Given the description of an element on the screen output the (x, y) to click on. 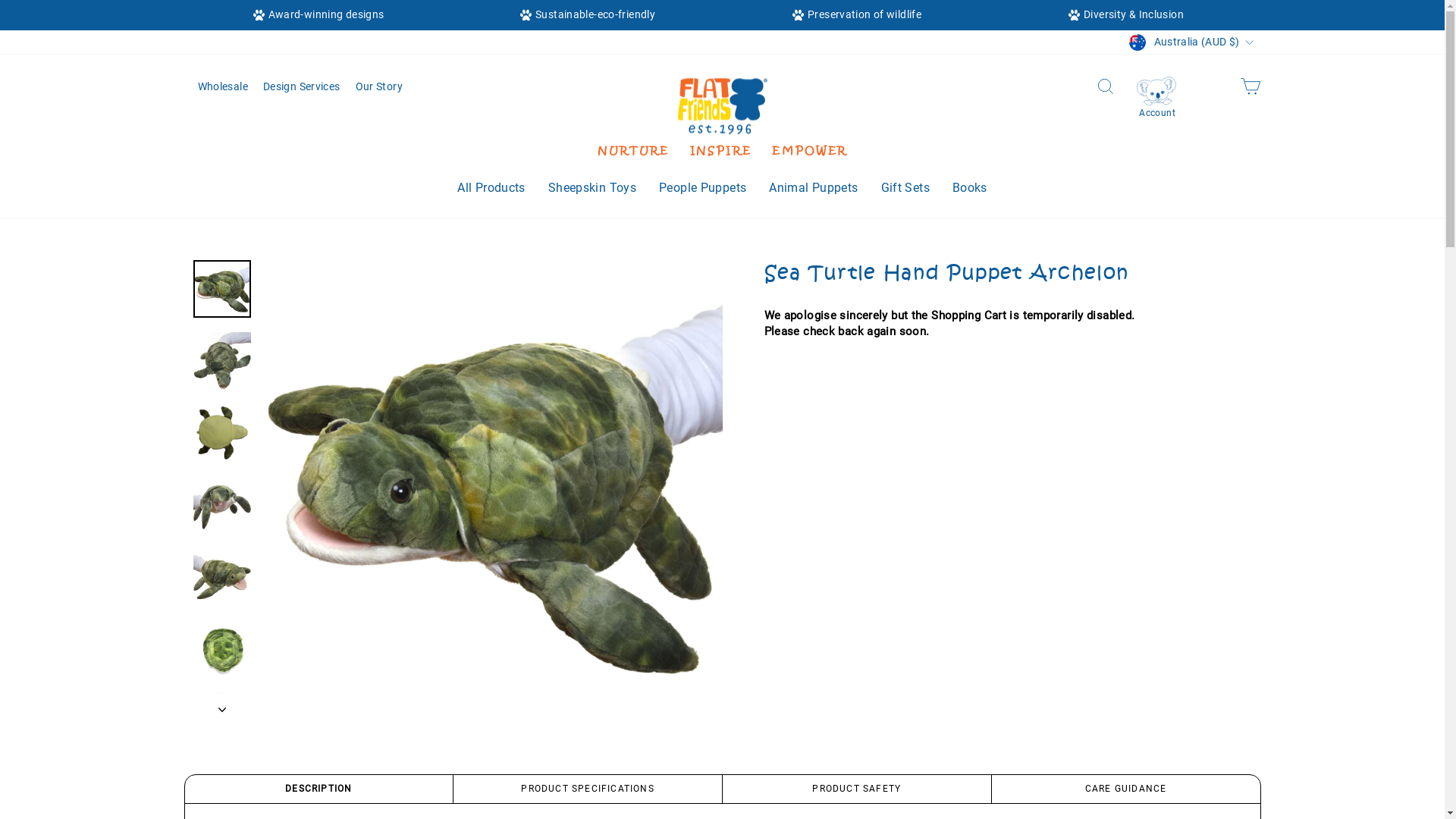
Skip to content Element type: text (0, 0)
Design Services Element type: text (301, 86)
Animal Puppets Element type: text (813, 187)
Search Element type: text (1105, 85)
Our Story Element type: text (378, 86)
Australia (AUD $) Element type: text (1192, 42)
Wholesale Element type: text (221, 86)
Books Element type: text (969, 187)
Sheepskin Toys Element type: text (591, 187)
People Puppets Element type: text (702, 187)
Cart Element type: text (1249, 85)
All Products Element type: text (490, 187)
Gift Sets Element type: text (904, 187)
